Given the description of an element on the screen output the (x, y) to click on. 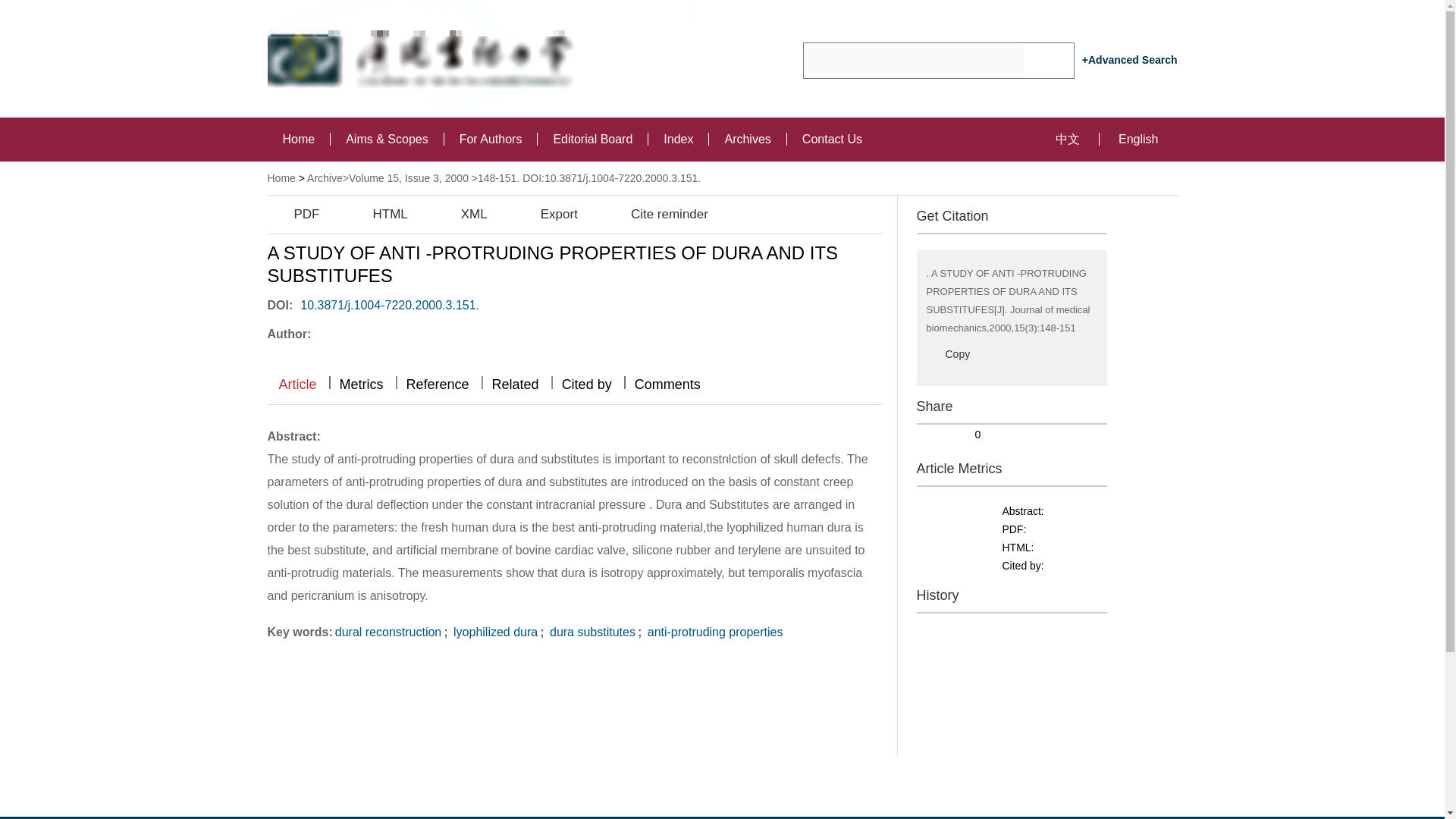
XML (460, 214)
For Authors (490, 138)
Contact Us (831, 138)
Export (545, 214)
PDF (292, 214)
Home (280, 177)
Contact author:,Email:  (362, 331)
Home (298, 138)
Editorial Board (592, 138)
Cite reminder (655, 214)
